Given the description of an element on the screen output the (x, y) to click on. 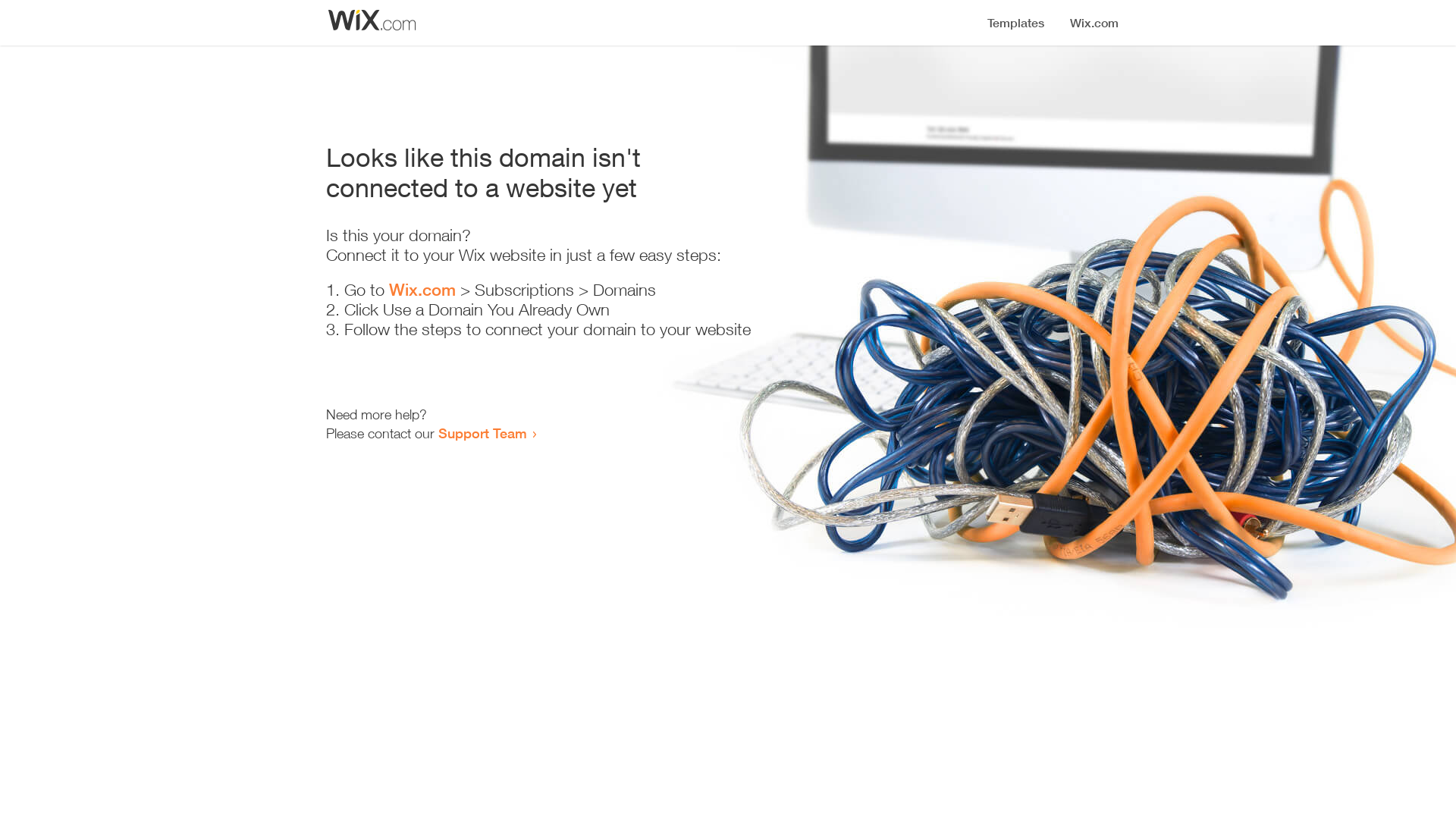
Support Team Element type: text (482, 432)
Wix.com Element type: text (422, 289)
